Given the description of an element on the screen output the (x, y) to click on. 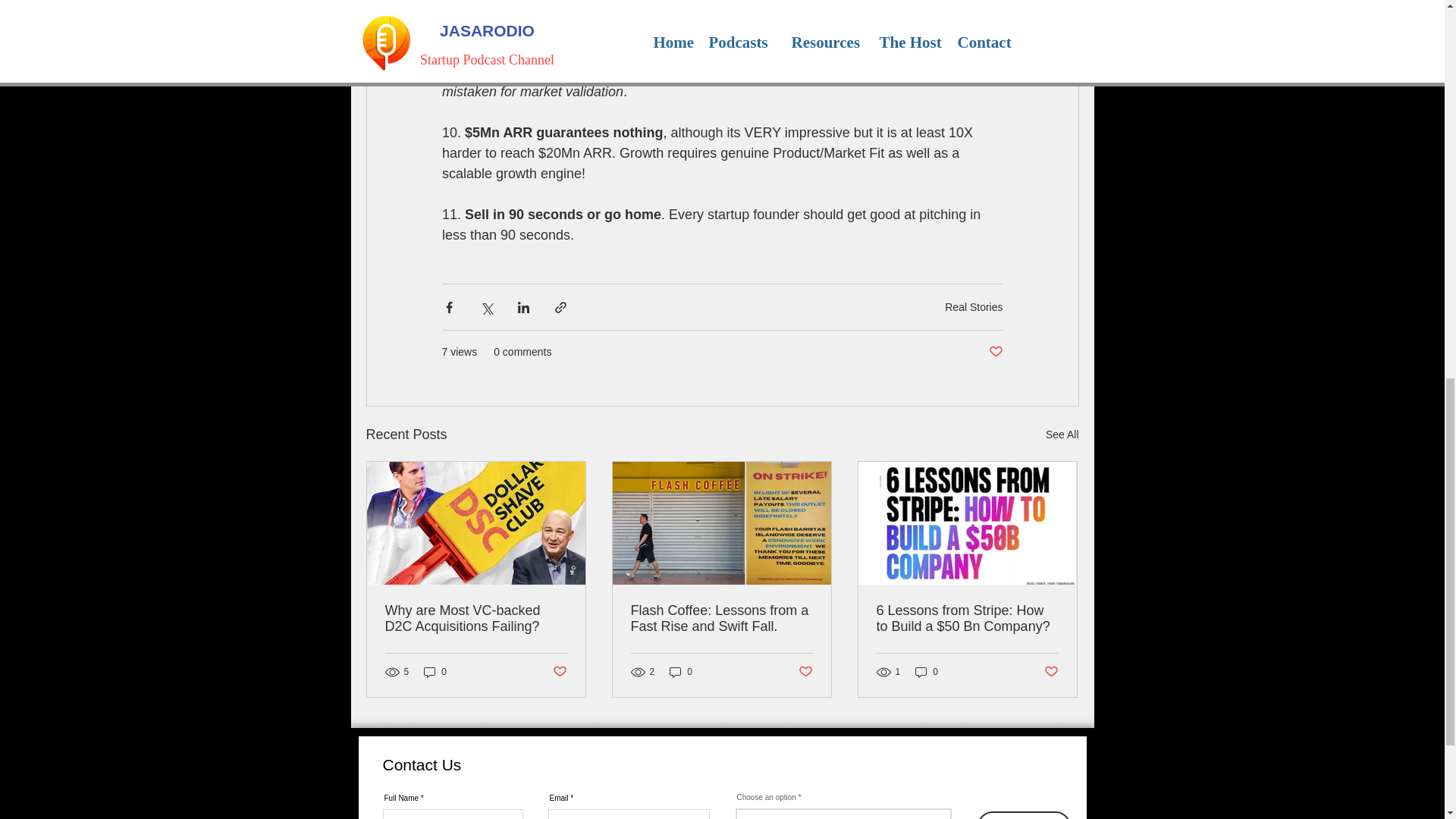
Post not marked as liked (804, 672)
Real Stories (973, 306)
Post not marked as liked (1050, 672)
Post not marked as liked (995, 351)
Post not marked as liked (558, 672)
Flash Coffee: Lessons from a Fast Rise and Swift Fall. (721, 618)
See All (1061, 434)
0 (926, 671)
Submit (1023, 815)
Why are Most VC-backed D2C Acquisitions Failing? (476, 618)
0 (681, 671)
0 (435, 671)
